Given the description of an element on the screen output the (x, y) to click on. 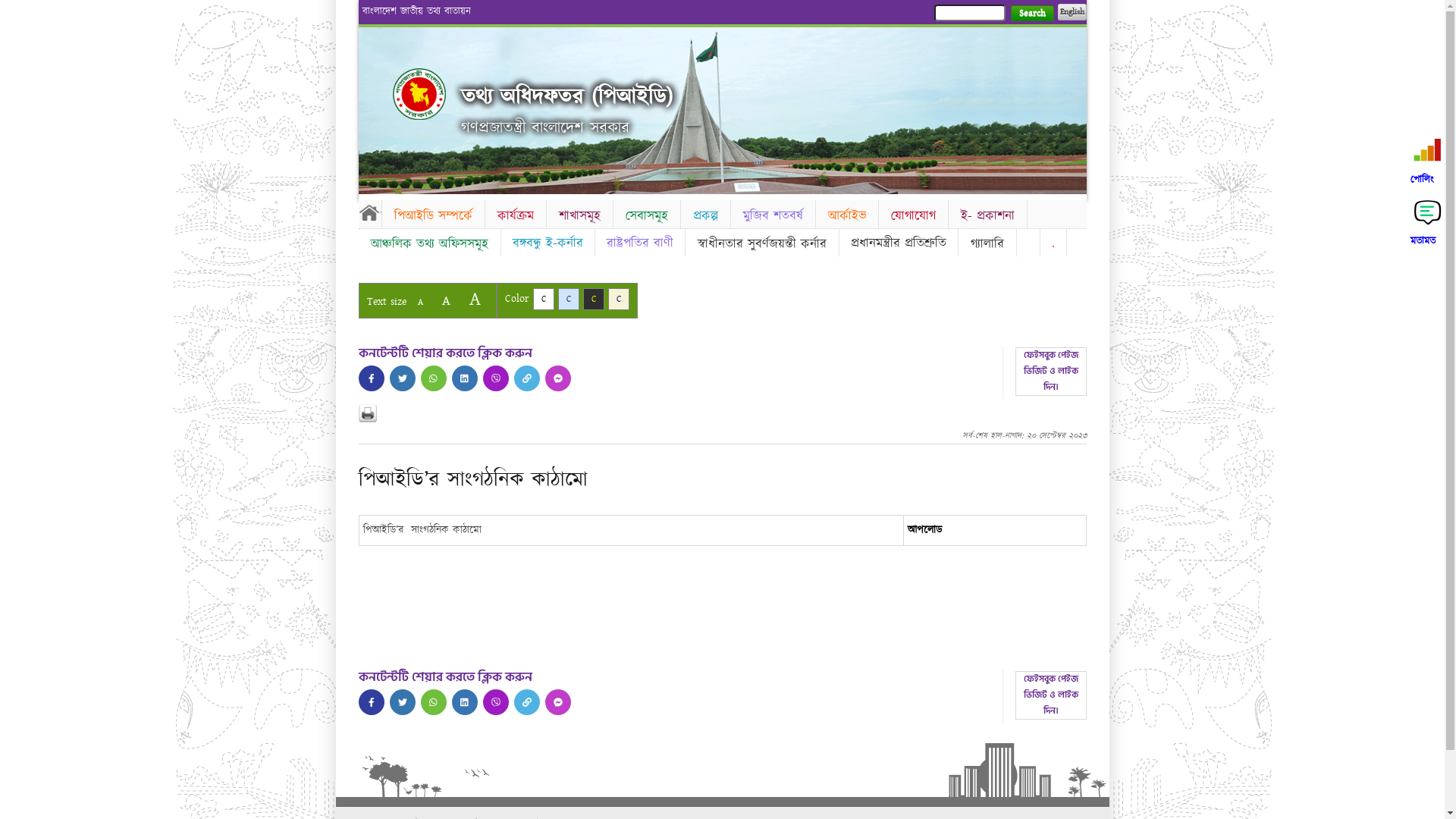
C Element type: text (568, 299)
C Element type: text (618, 299)
Home Element type: hover (418, 93)
A Element type: text (419, 301)
Home Element type: hover (368, 211)
A Element type: text (445, 300)
A Element type: text (474, 298)
. Element type: text (1053, 243)
C Element type: text (542, 299)
Search Element type: text (1031, 13)
English Element type: text (1071, 11)
C Element type: text (592, 299)
